Given the description of an element on the screen output the (x, y) to click on. 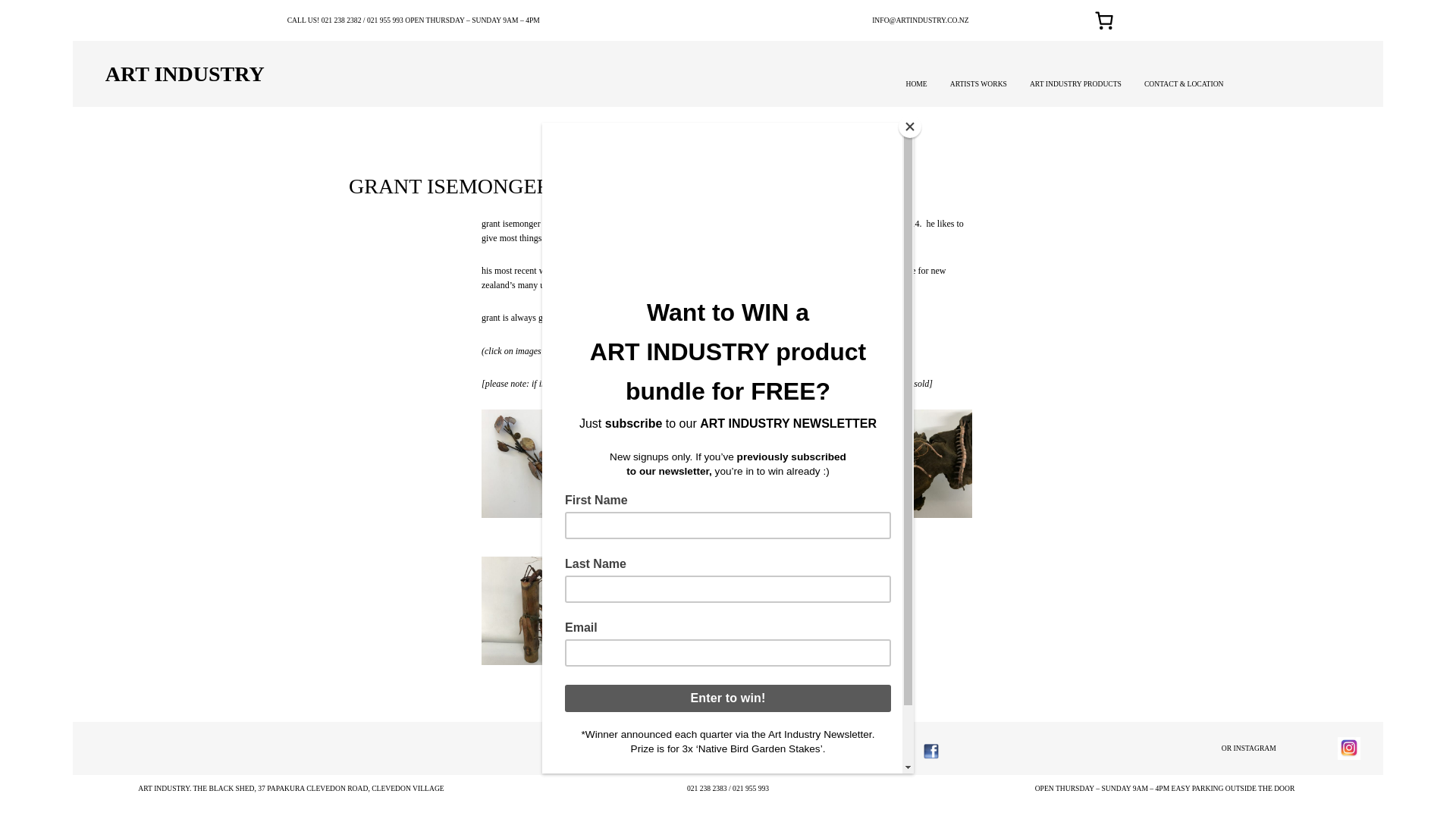
VISIT US ON FACEBOOK (812, 747)
021 238 2382 (341, 19)
OR INSTAGRAM (1248, 747)
ARTISTS WORKS (978, 83)
ART INDUSTRY (184, 73)
021 955 993 (384, 19)
ART INDUSTRY PRODUCTS (1075, 83)
HOME (915, 83)
